Given the description of an element on the screen output the (x, y) to click on. 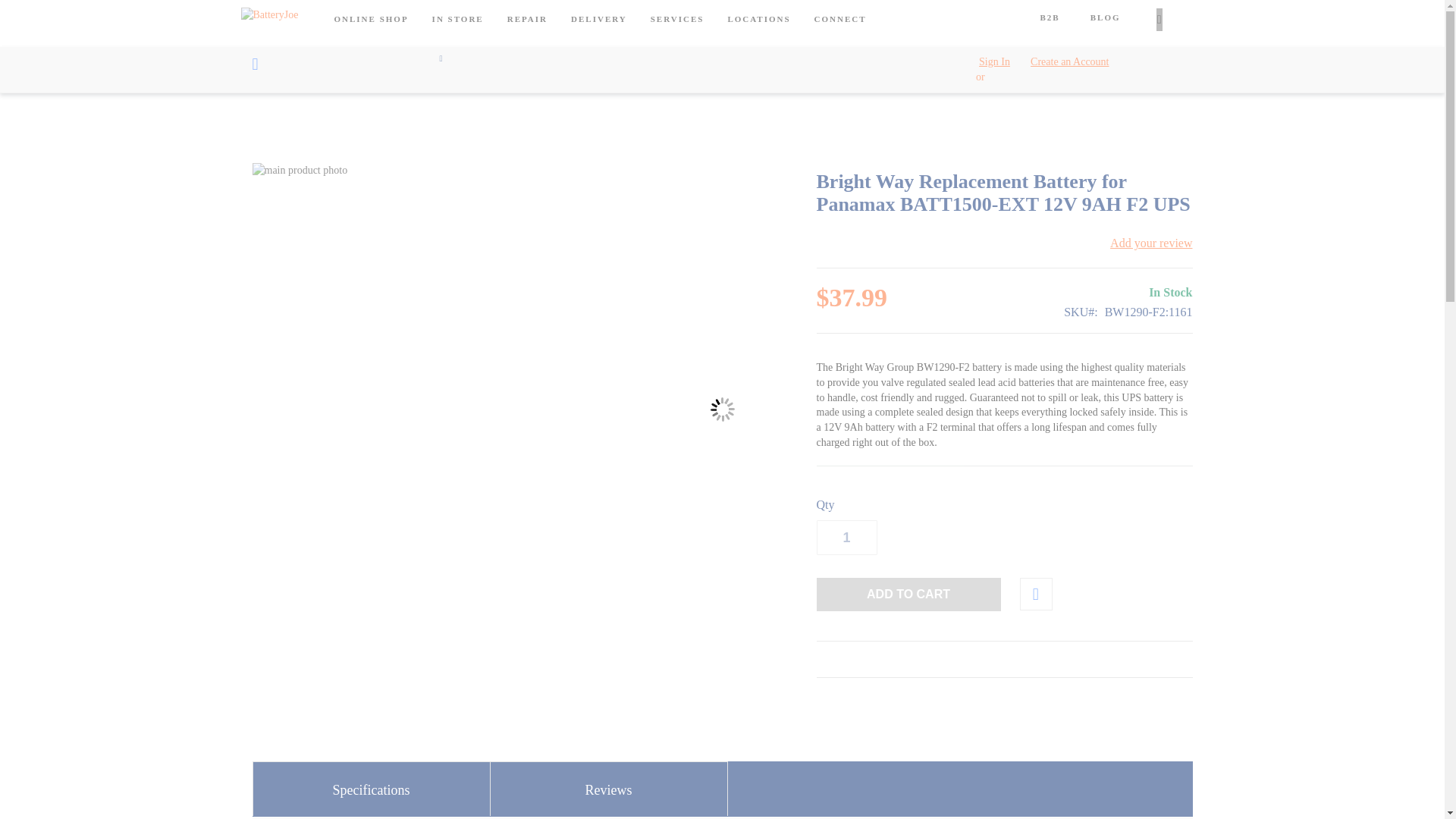
ONLINE SHOP (371, 19)
Sign In (994, 61)
1 (845, 537)
BatteryJoe (282, 47)
Availability (1128, 293)
Create an Account (1069, 61)
Add to Cart (907, 594)
BatteryJoe (282, 48)
Qty (845, 537)
